Given the description of an element on the screen output the (x, y) to click on. 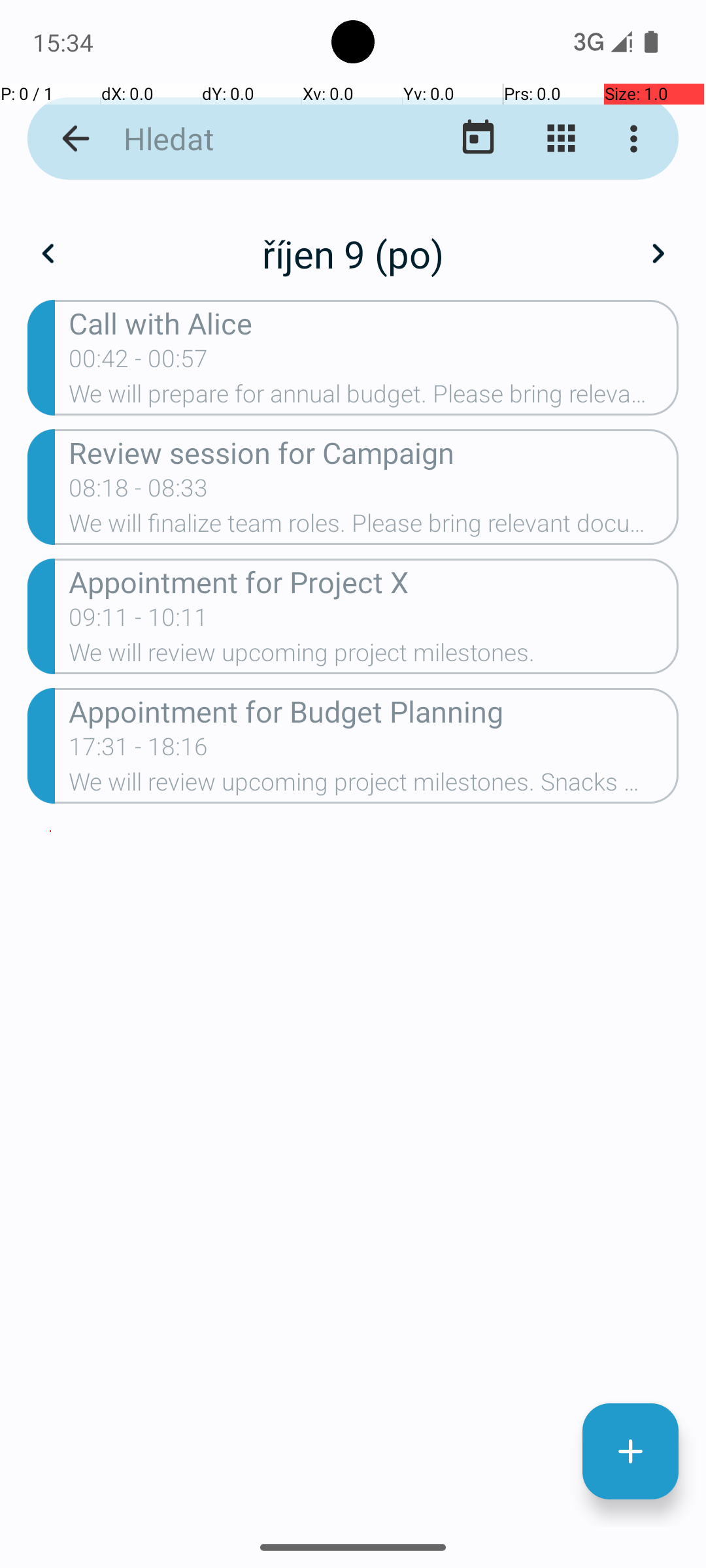
říjen 9 (po) Element type: android.widget.TextView (352, 253)
00:42 - 00:57 Element type: android.widget.TextView (137, 362)
We will prepare for annual budget. Please bring relevant documents. Element type: android.widget.TextView (373, 397)
08:18 - 08:33 Element type: android.widget.TextView (137, 491)
We will finalize team roles. Please bring relevant documents. Element type: android.widget.TextView (373, 526)
09:11 - 10:11 Element type: android.widget.TextView (137, 620)
We will review upcoming project milestones. Element type: android.widget.TextView (373, 656)
17:31 - 18:16 Element type: android.widget.TextView (137, 750)
We will review upcoming project milestones. Snacks will be provided. Element type: android.widget.TextView (373, 785)
